Given the description of an element on the screen output the (x, y) to click on. 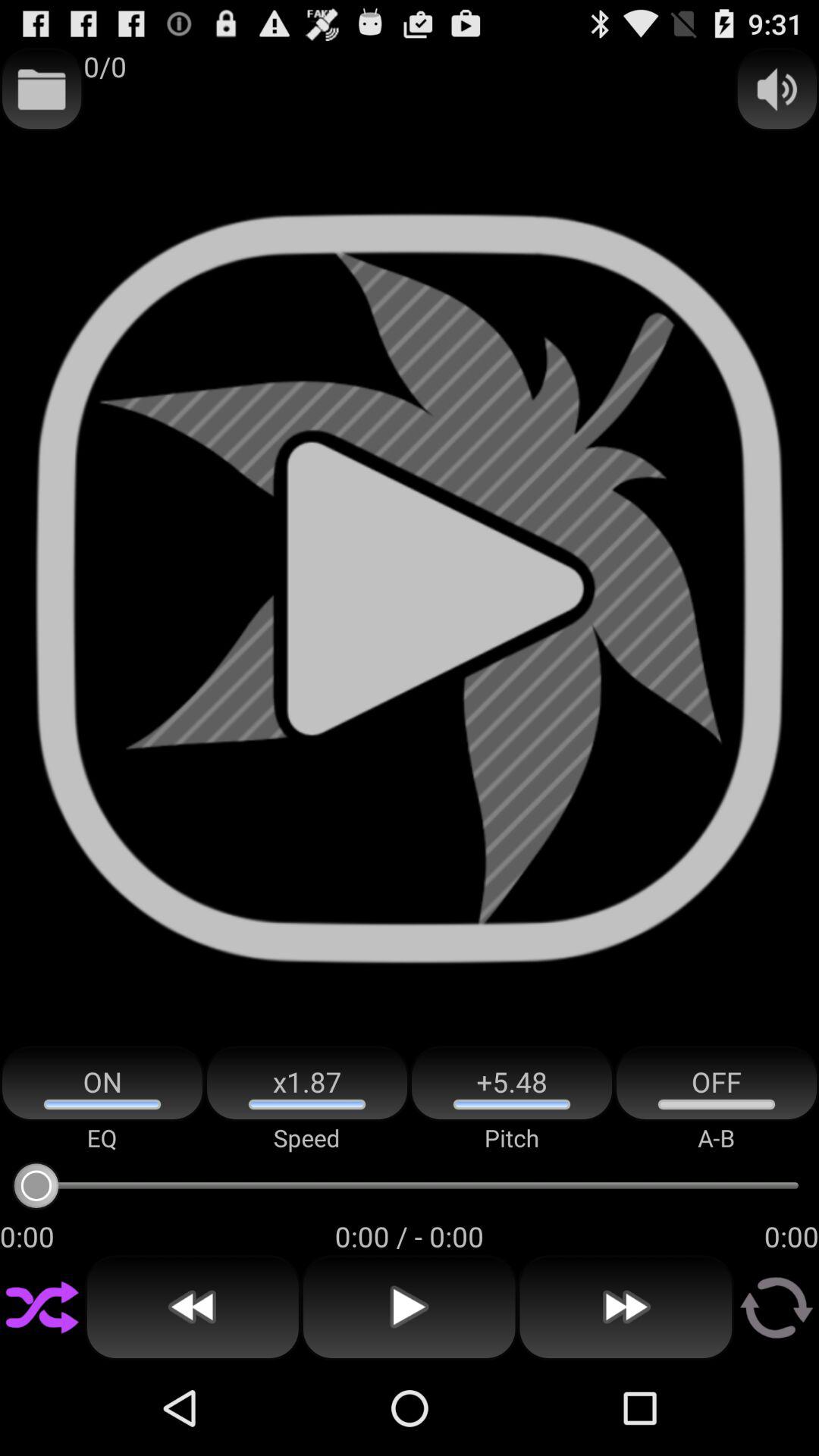
press the item next to +5.48 item (306, 1083)
